Given the description of an element on the screen output the (x, y) to click on. 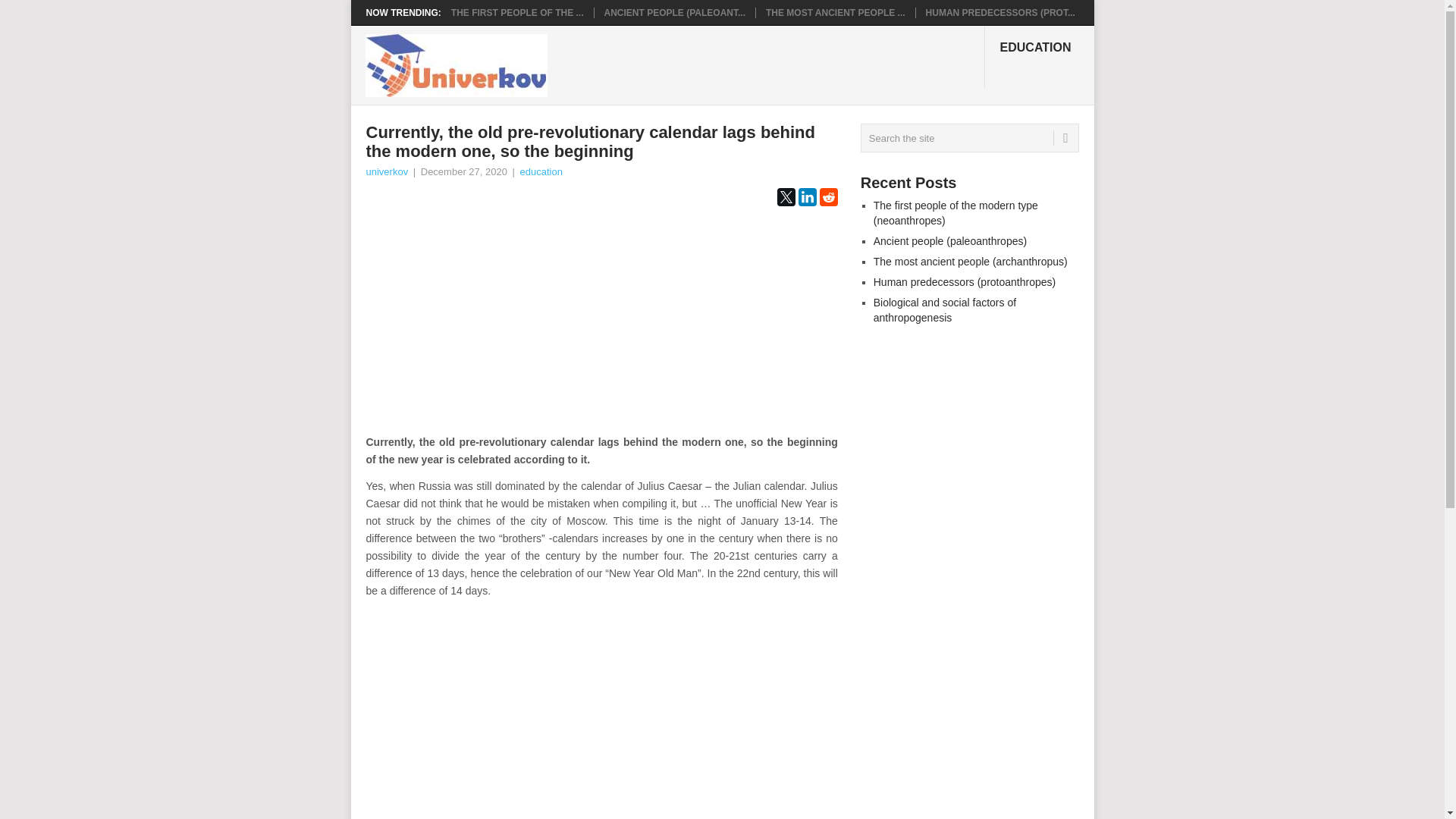
Search the site (969, 137)
Biological and social factors of anthropogenesis (944, 309)
reddit (828, 197)
education (540, 171)
LinkedIn (806, 197)
THE FIRST PEOPLE OF THE ... (517, 12)
univerkov (386, 171)
Posts by univerkov (386, 171)
EDUCATION (1039, 56)
THE MOST ANCIENT PEOPLE ... (835, 12)
